Given the description of an element on the screen output the (x, y) to click on. 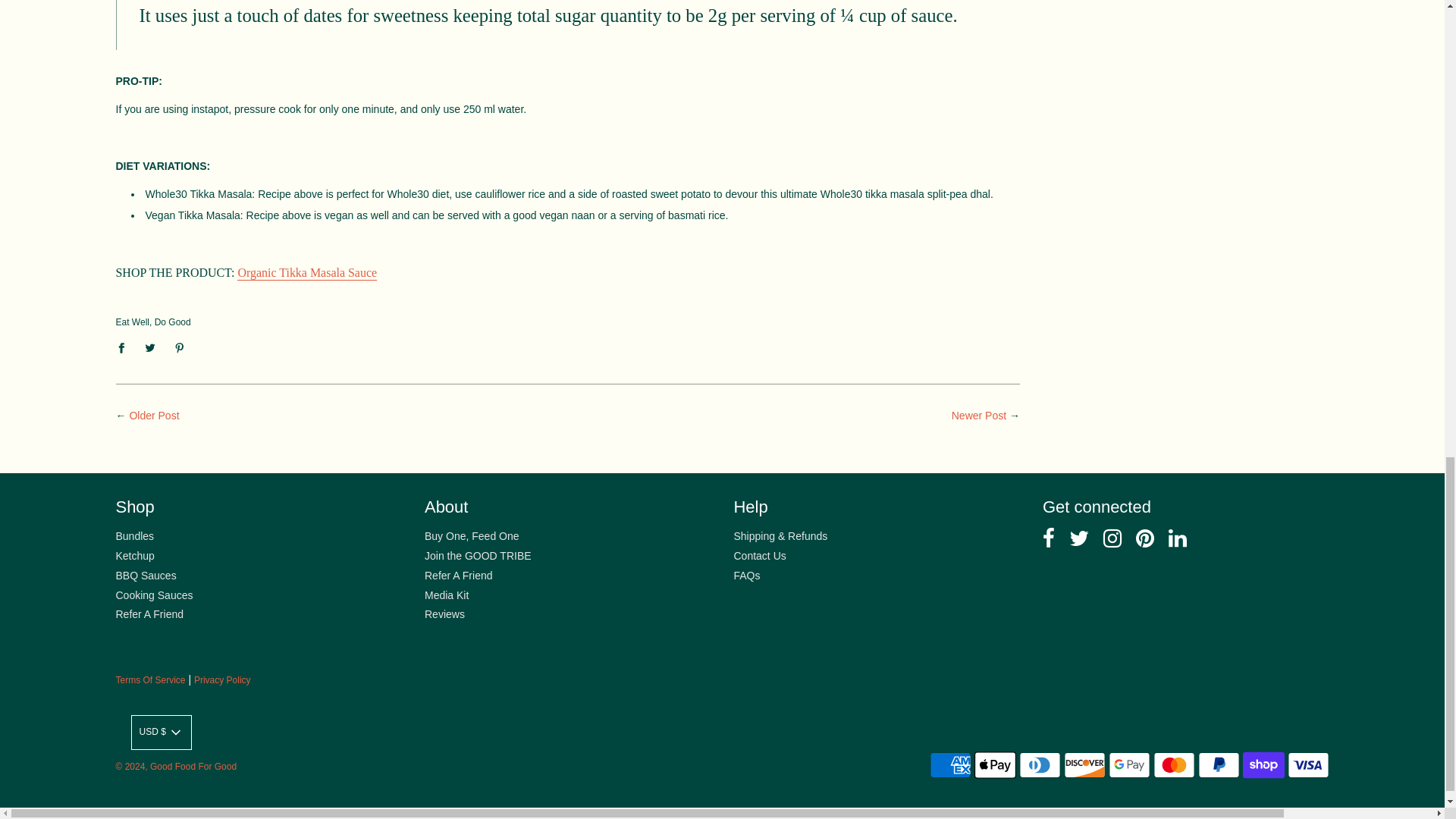
PayPal (1219, 765)
American Express (950, 765)
Google Pay (1129, 765)
Buy Tikka Masala Sauce (307, 273)
Shop Pay (1263, 765)
Apple Pay (995, 765)
Visa (1308, 765)
Mastercard (1174, 765)
Diners Club (1040, 765)
Discover (1084, 765)
